Given the description of an element on the screen output the (x, y) to click on. 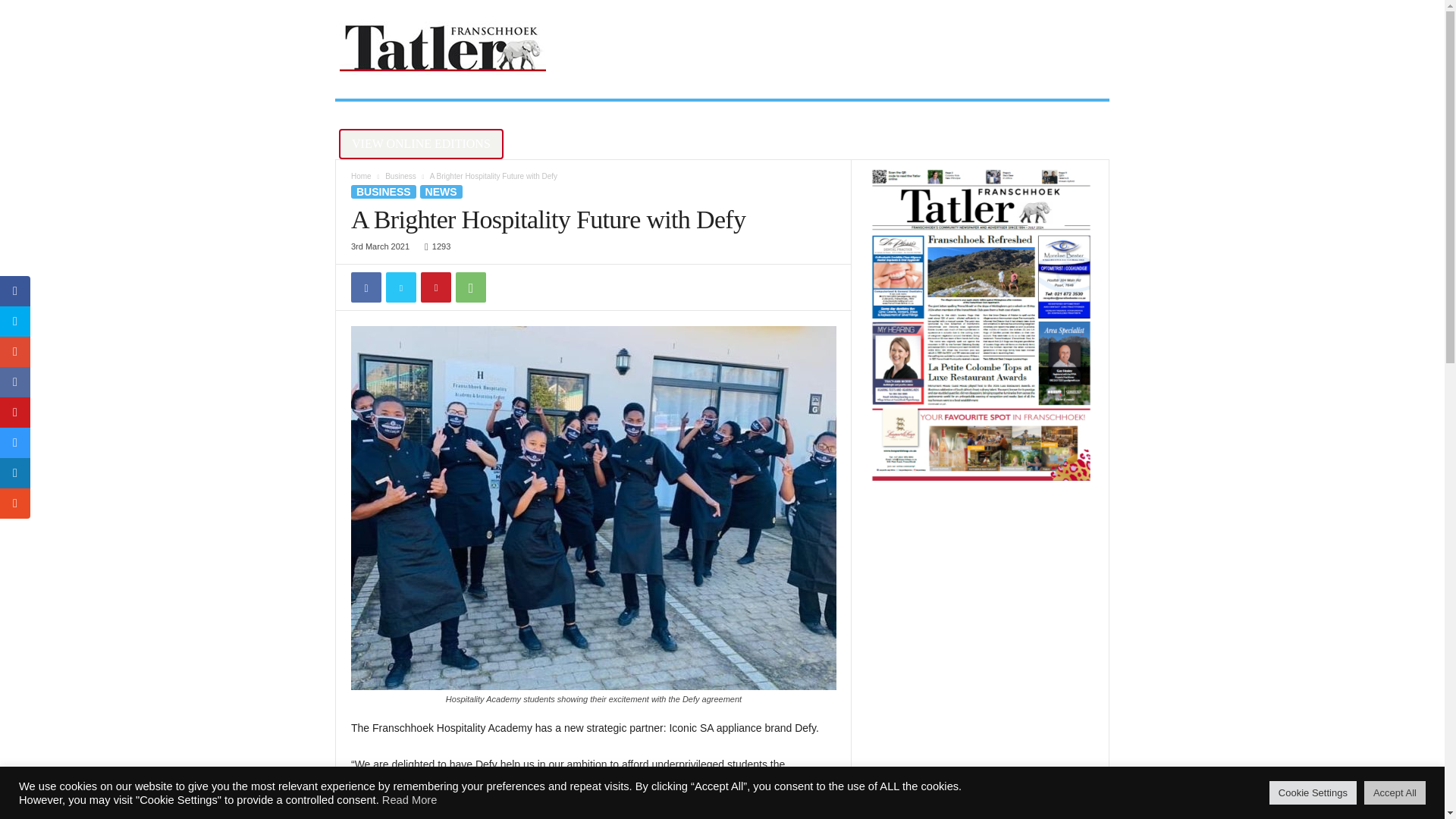
LIFESTYLE (514, 114)
Franschhoek Tatler (442, 48)
NEWS (431, 114)
Advertisement (829, 49)
HOME (368, 114)
